Given the description of an element on the screen output the (x, y) to click on. 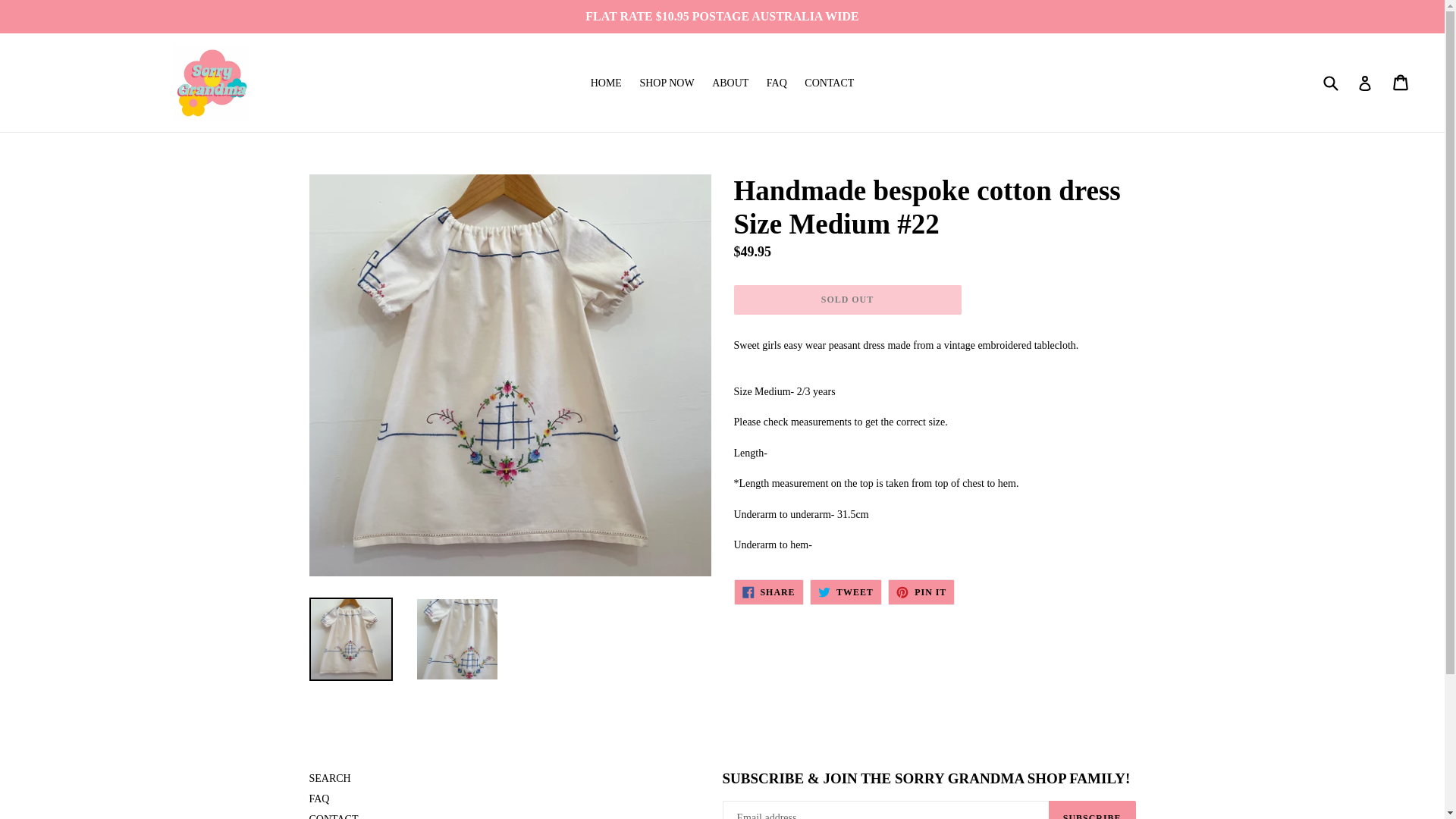
Pin on Pinterest (921, 592)
CONTACT (333, 816)
ABOUT (845, 592)
HOME (729, 82)
Share on Facebook (605, 82)
SEARCH (768, 592)
SHOP NOW (329, 778)
FAQ (666, 82)
SUBSCRIBE (776, 82)
